Given the description of an element on the screen output the (x, y) to click on. 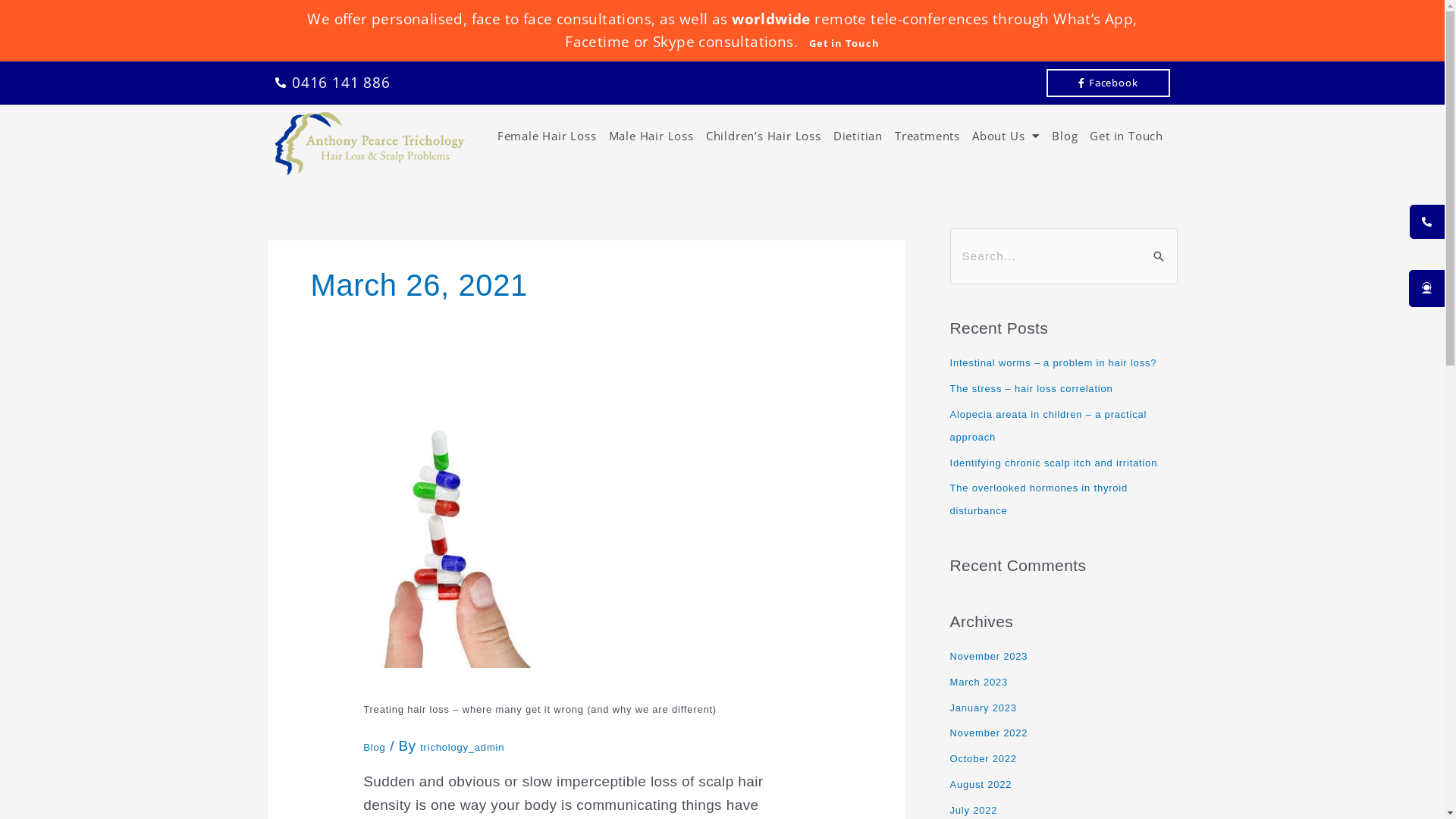
Search Element type: text (1160, 243)
March 2023 Element type: text (978, 681)
August 2022 Element type: text (980, 784)
Get in Touch Element type: text (1126, 135)
Dietitian Element type: text (857, 135)
Treatments Element type: text (927, 135)
trichology_admin Element type: text (462, 747)
Blog Element type: text (1064, 135)
The overlooked hormones in thyroid disturbance Element type: text (1038, 499)
0416 141 886 Element type: text (331, 82)
Identifying chronic scalp itch and irritation Element type: text (1053, 462)
Blog Element type: text (374, 747)
October 2022 Element type: text (982, 758)
Female Hair Loss Element type: text (546, 135)
Male Hair Loss Element type: text (650, 135)
January 2023 Element type: text (982, 707)
About Us Element type: text (1005, 135)
Facebook Element type: text (1107, 83)
November 2023 Element type: text (988, 656)
November 2022 Element type: text (988, 732)
July 2022 Element type: text (973, 809)
Get in Touch Element type: text (838, 43)
